Given the description of an element on the screen output the (x, y) to click on. 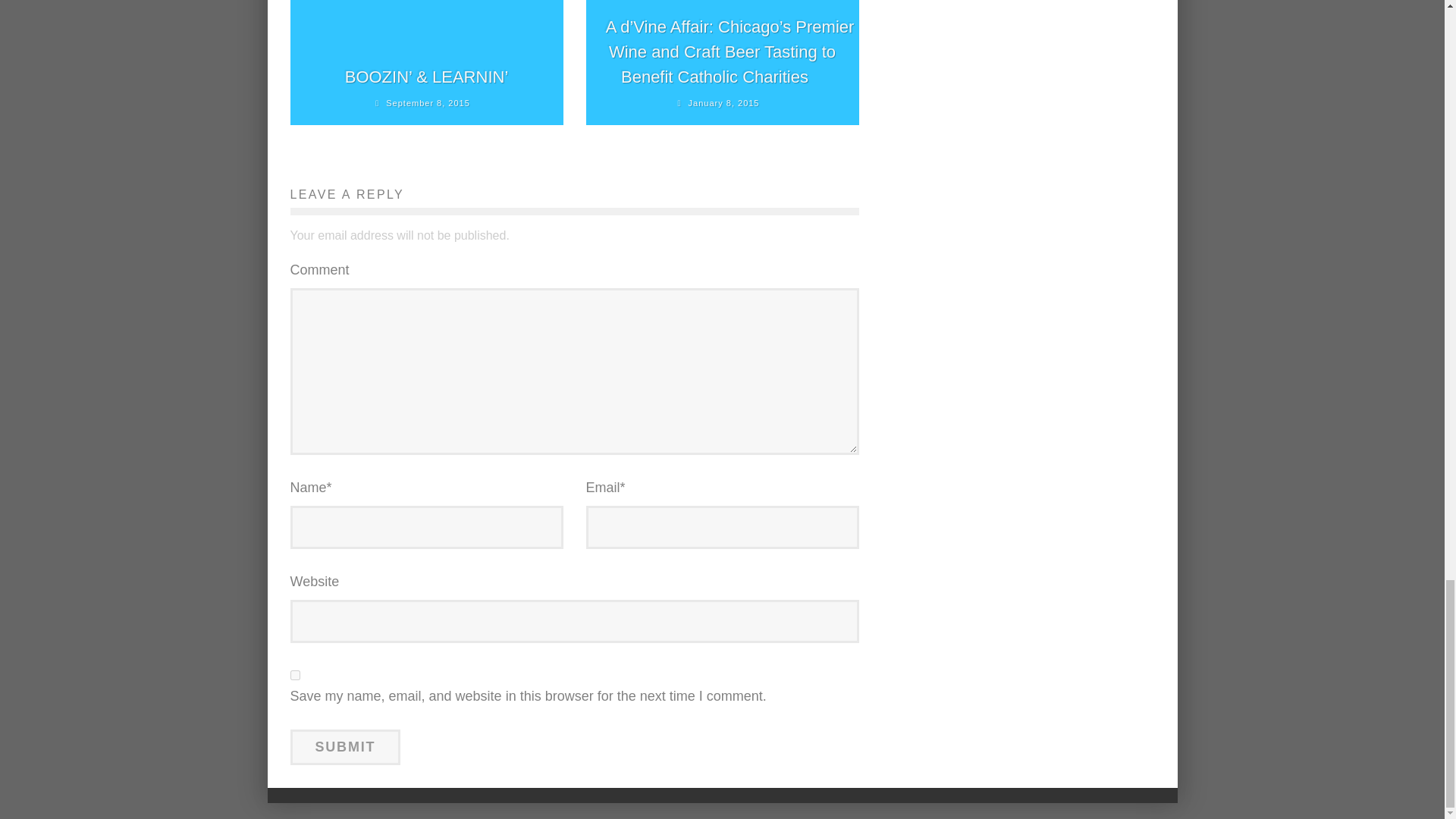
Submit (344, 746)
yes (294, 675)
Submit (344, 746)
